Given the description of an element on the screen output the (x, y) to click on. 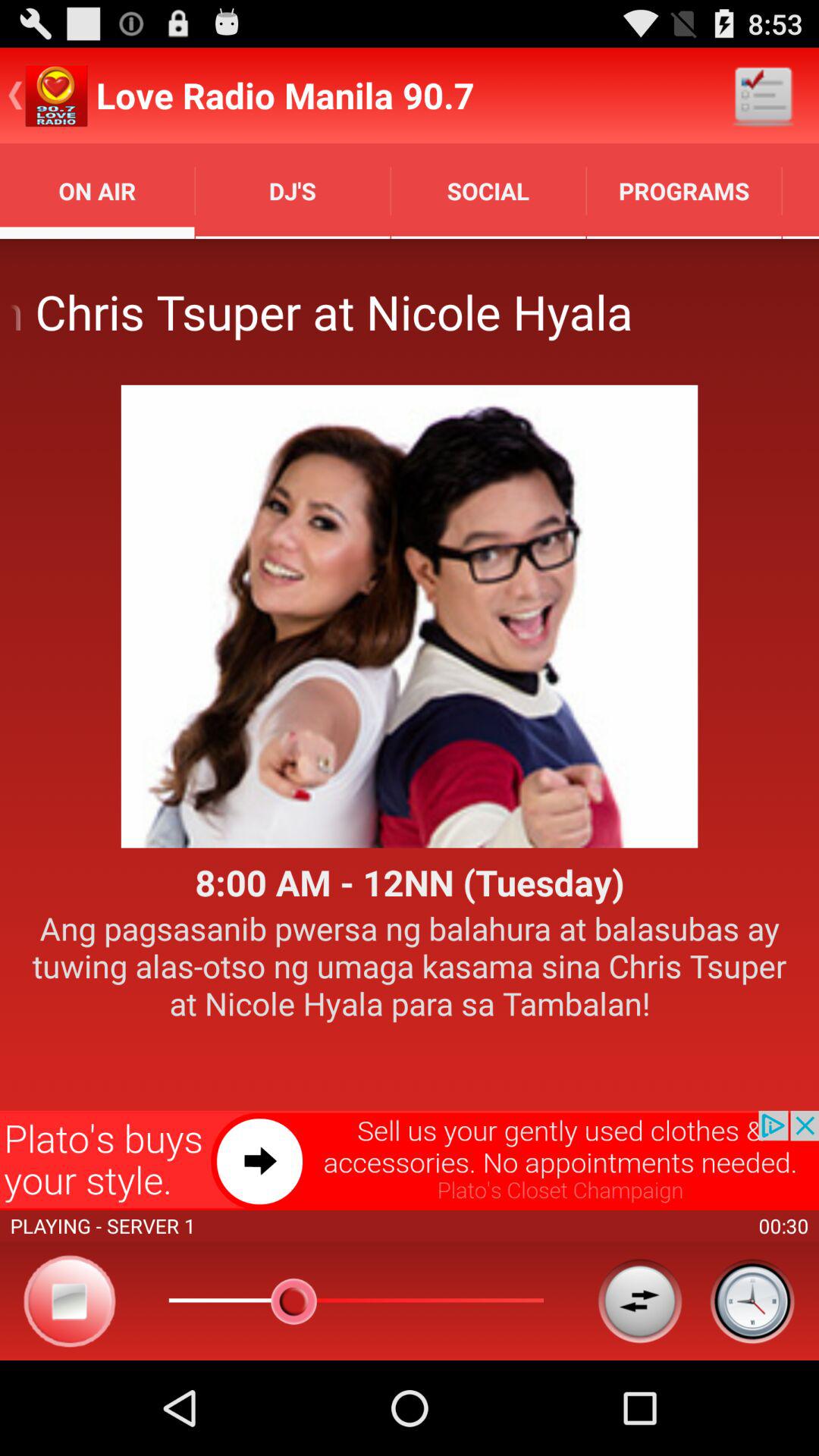
stop option (69, 1300)
